Given the description of an element on the screen output the (x, y) to click on. 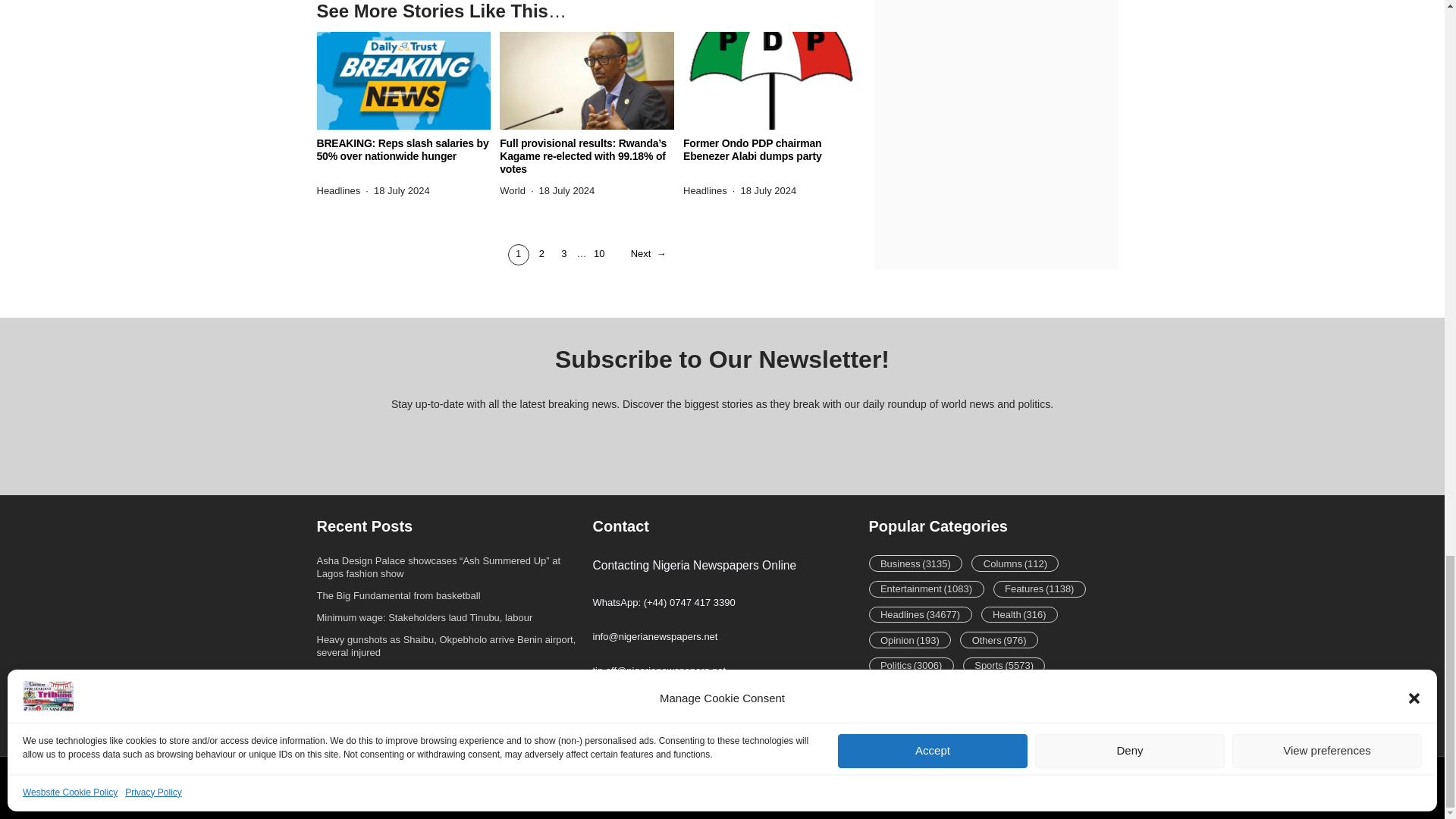
Former Ondo PDP chairman Ebenezer Alabi dumps party (769, 149)
Headlines (339, 190)
World (512, 190)
